Given the description of an element on the screen output the (x, y) to click on. 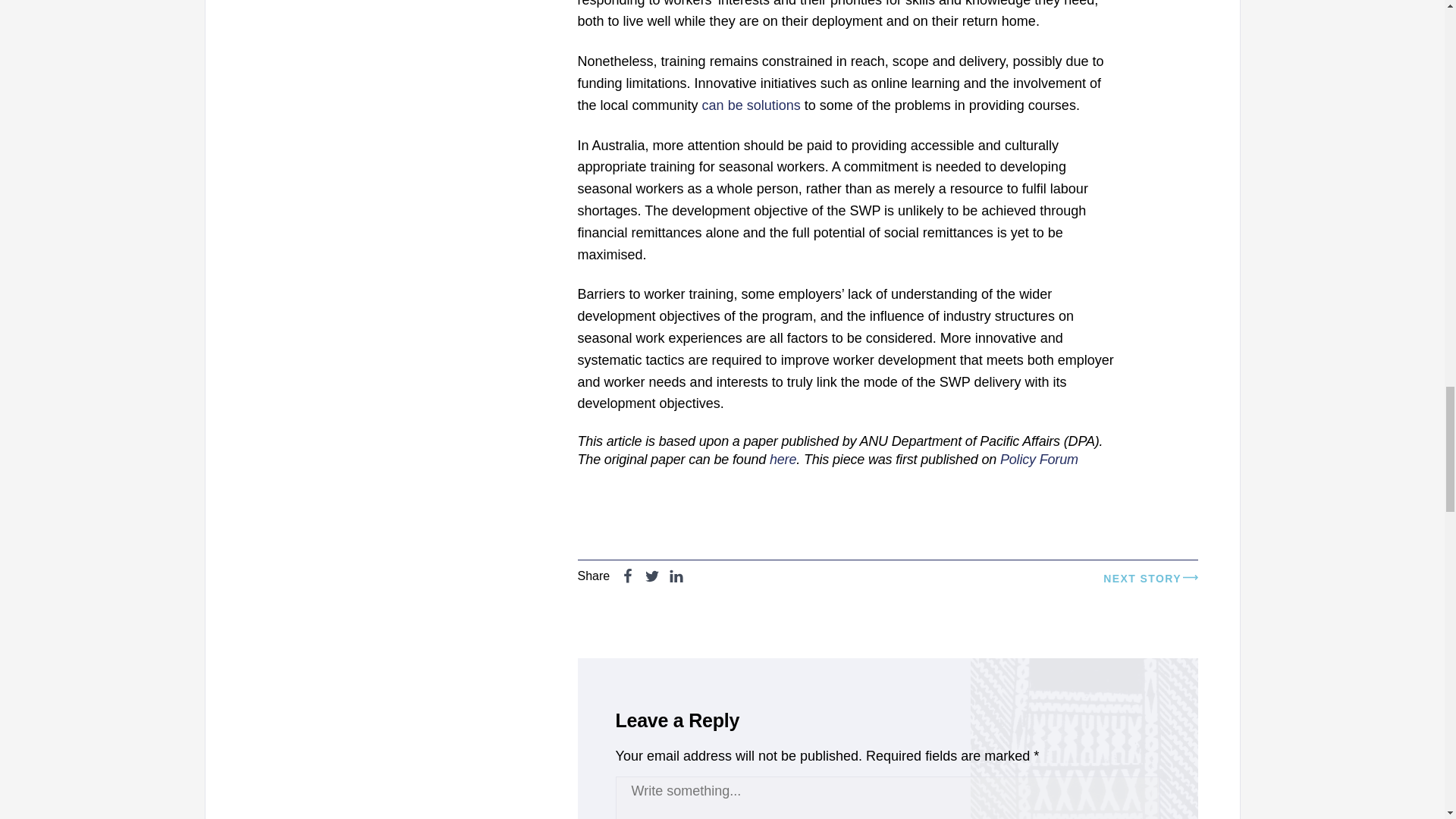
Share on LinkedIn (675, 580)
Share on Facebook (627, 580)
Share on Twitter (651, 580)
